Given the description of an element on the screen output the (x, y) to click on. 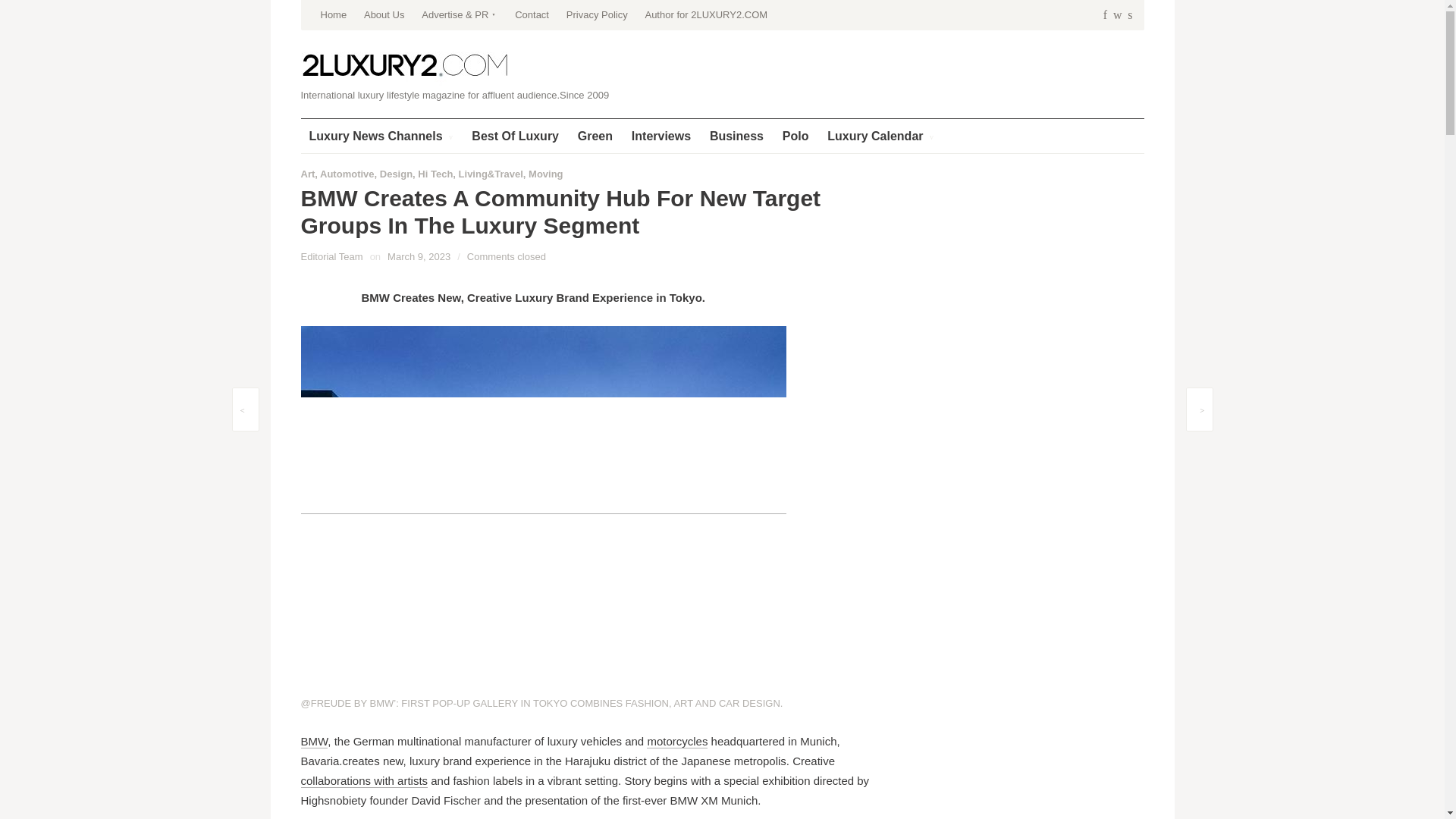
Interviews (660, 135)
Author for 2LUXURY2.COM (706, 15)
Privacy Policy (596, 15)
Luxury Advertising and PR (459, 15)
Green (595, 135)
luxury interviews (660, 135)
Luxury News Channels (380, 135)
About Us (384, 15)
business of luxury (736, 135)
2LUXURY2.COM (405, 65)
